Given the description of an element on the screen output the (x, y) to click on. 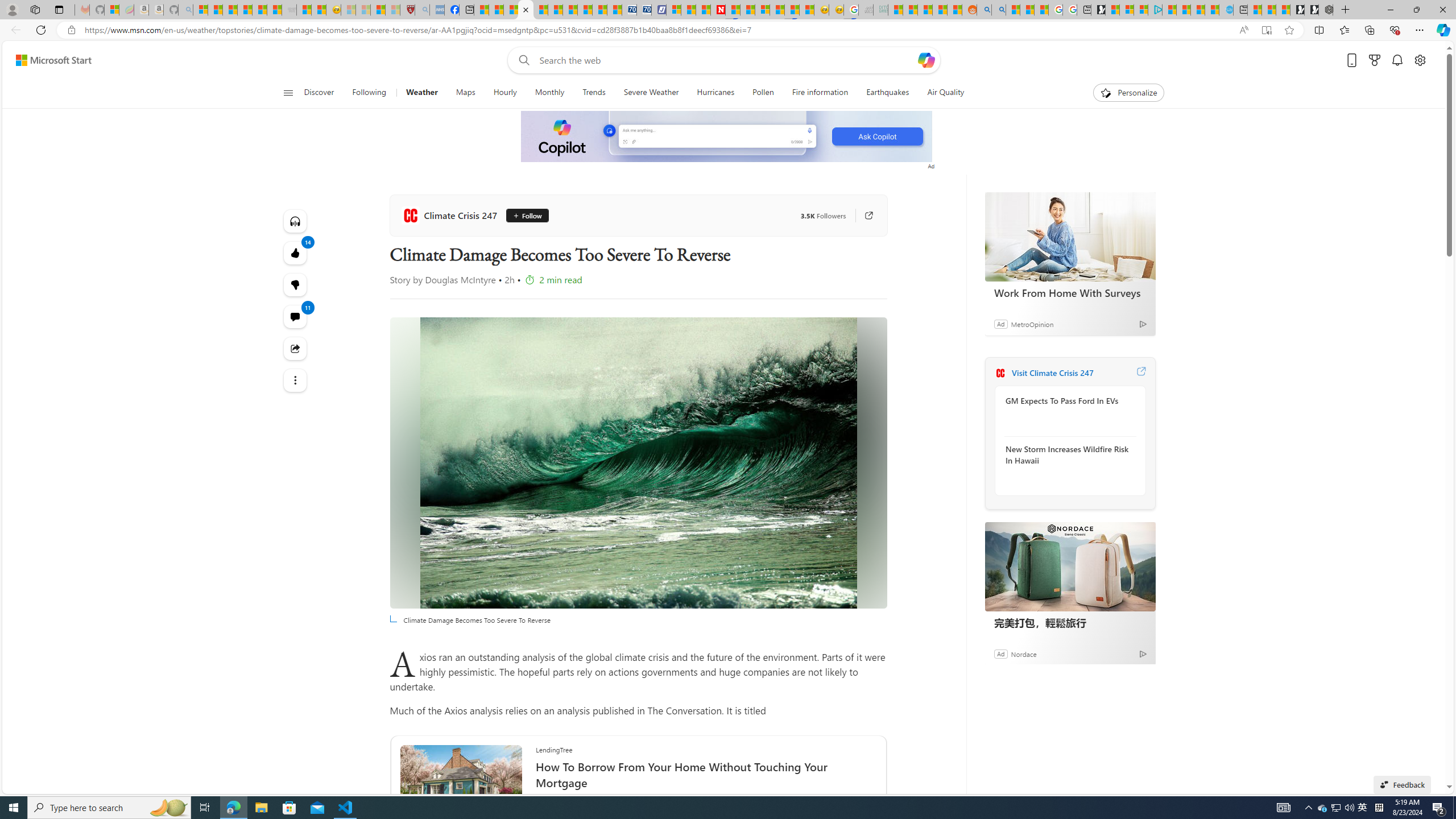
14 Like (295, 252)
Climate Damage Becomes Too Severe To Reverse (525, 9)
New Report Confirms 2023 Was Record Hot | Watch (259, 9)
Cheap Hotels - Save70.com (643, 9)
Hurricanes (716, 92)
Climate Crisis 247 (1000, 372)
